Given the description of an element on the screen output the (x, y) to click on. 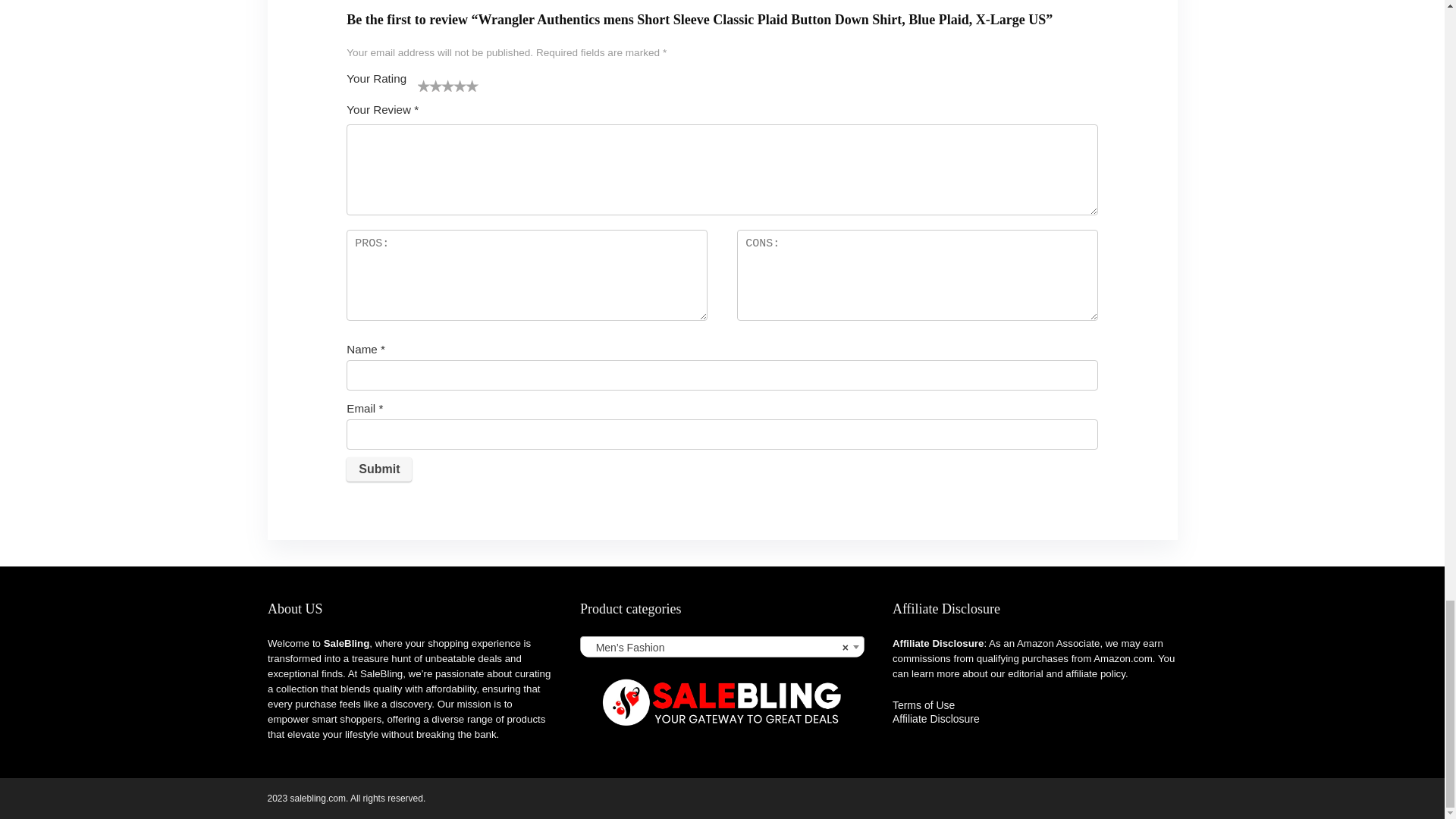
Submit (379, 469)
